Given the description of an element on the screen output the (x, y) to click on. 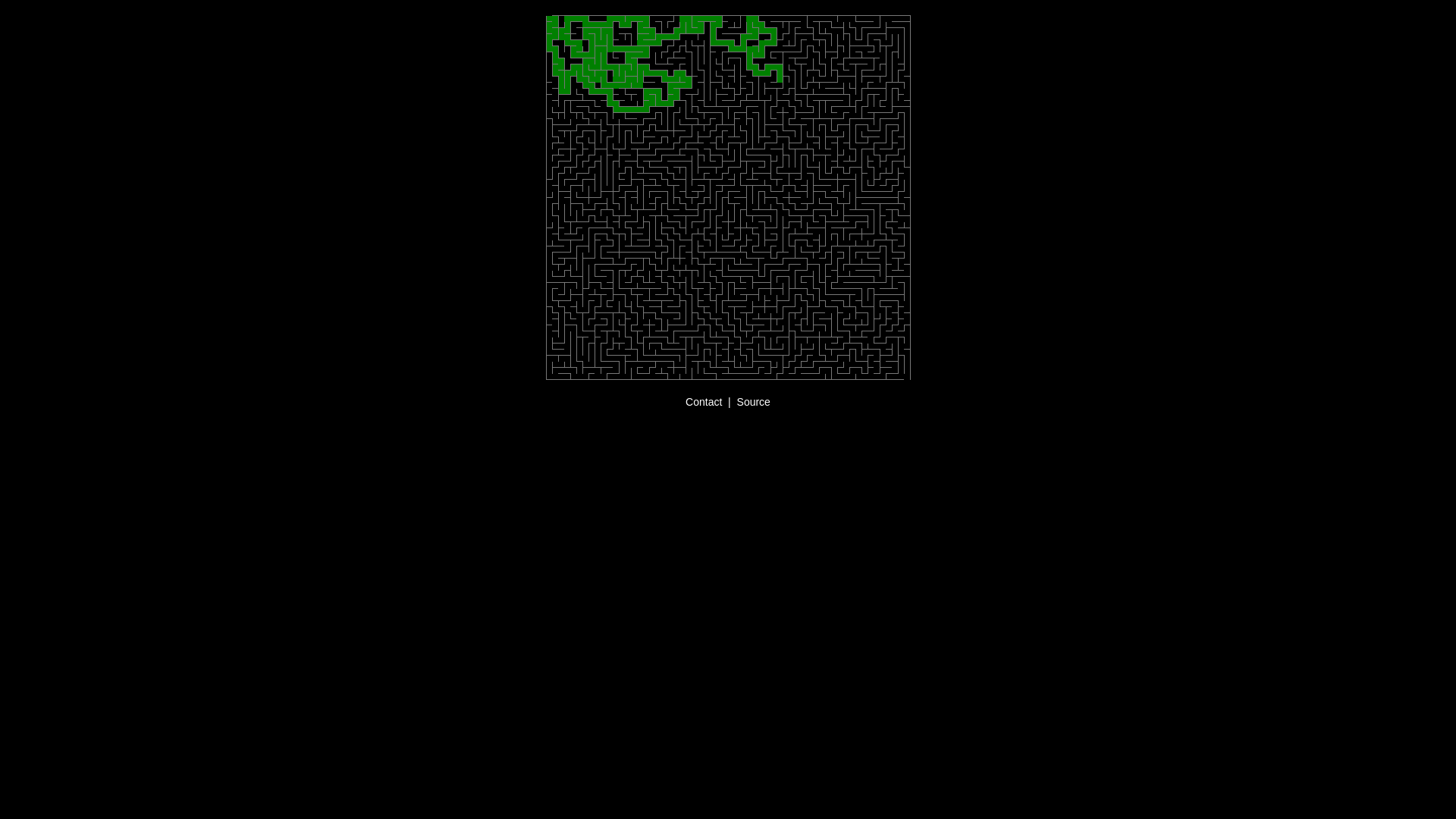
Contact Element type: text (703, 401)
Source Element type: text (753, 401)
